Given the description of an element on the screen output the (x, y) to click on. 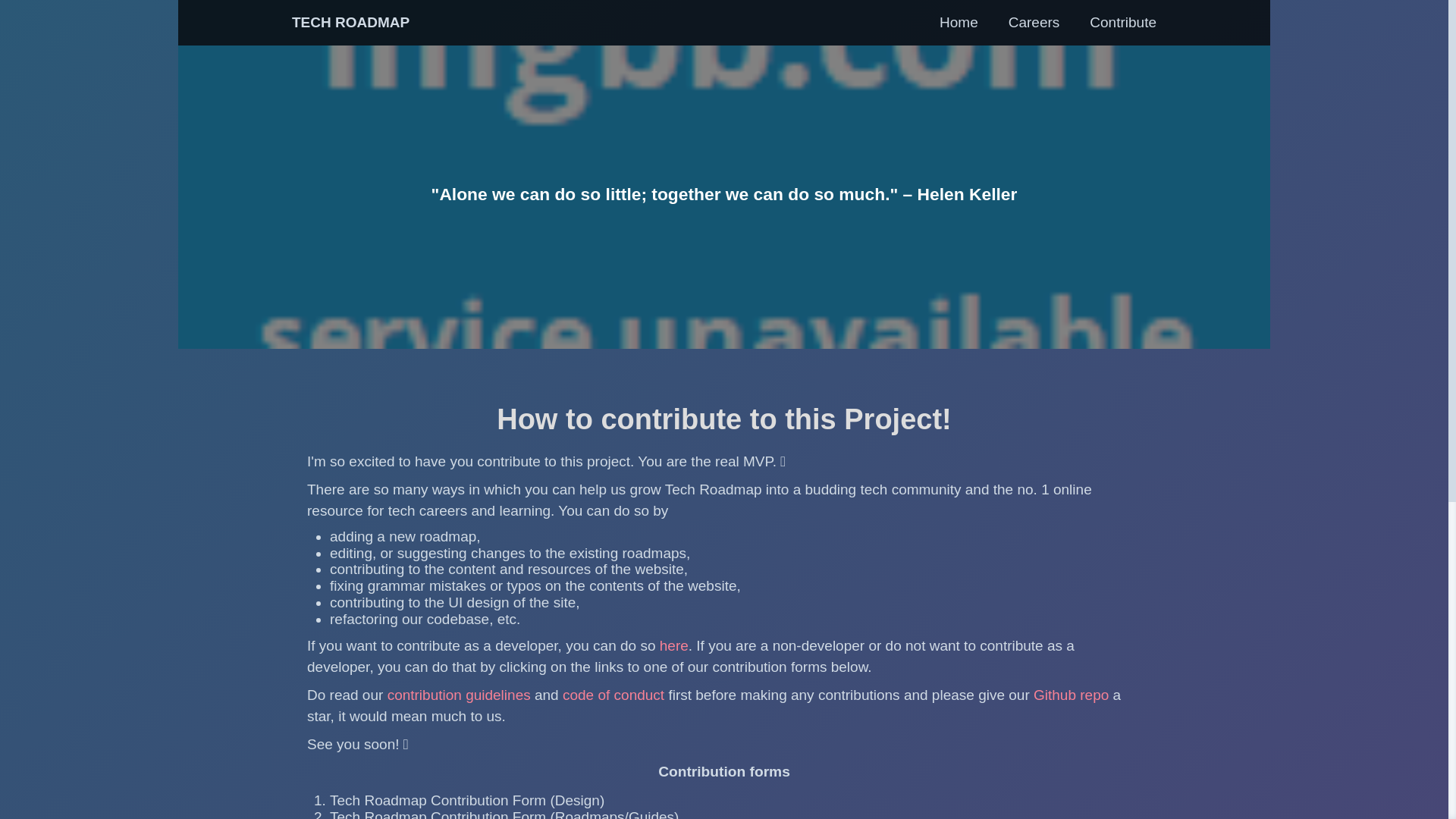
TECH ROADMAP (350, 23)
Careers (1034, 22)
Github repo (1073, 694)
Contribute (1122, 22)
code of conduct (612, 694)
here (673, 645)
Home (958, 22)
contribution guidelines (460, 694)
